Given the description of an element on the screen output the (x, y) to click on. 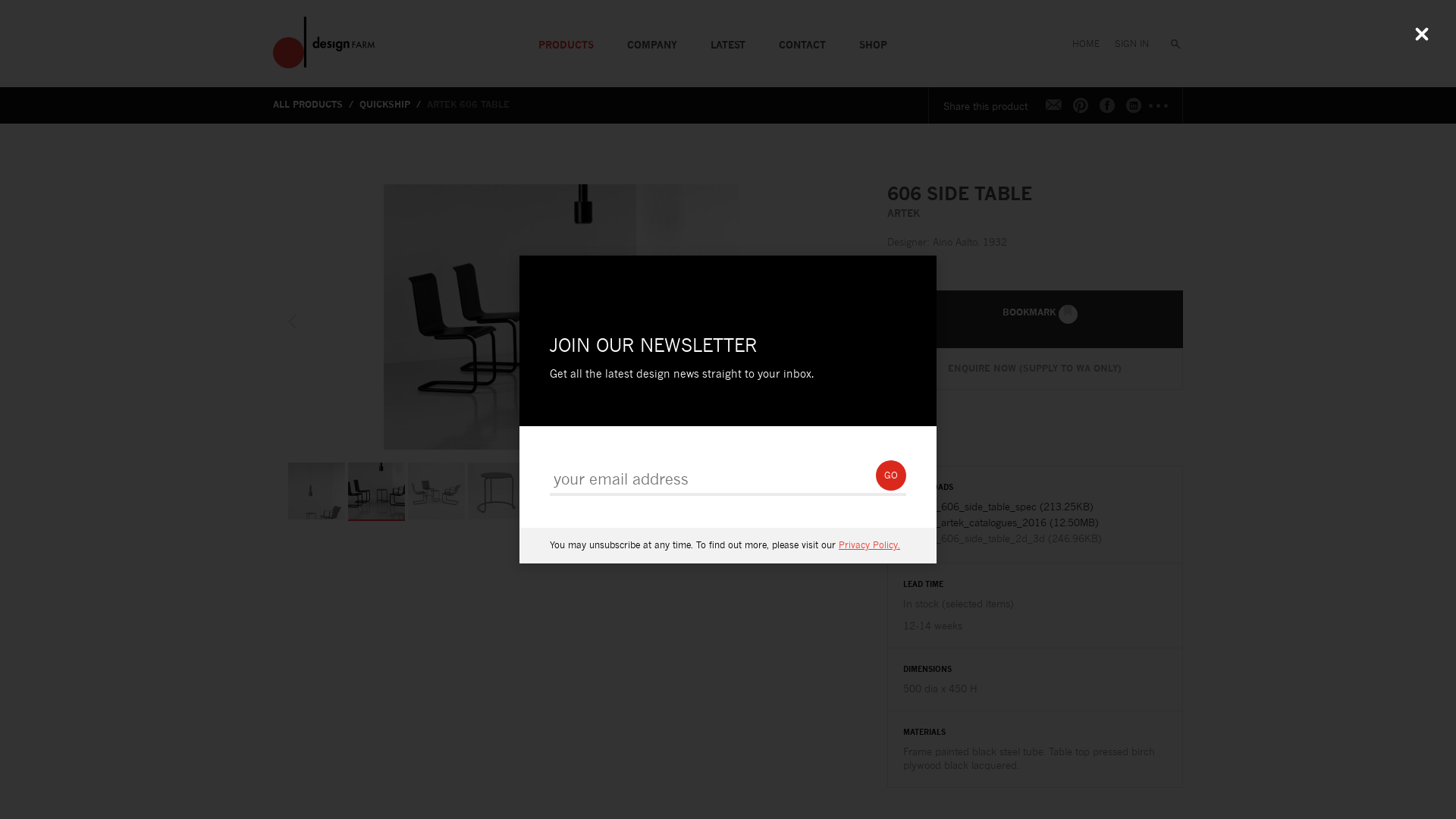
SIGN IN Element type: text (1131, 37)
atk_artek_catalogues_2016 (12.50MB) Element type: text (1035, 522)
BOOKMARK
    Element type: text (1035, 319)
COMPANY Element type: text (651, 37)
atk_606_side_table_2d_3d (246.96KB) Element type: text (1035, 538)
Share this on Facebook Element type: text (1106, 105)
Share this by email Element type: text (1053, 105)
More share options Element type: text (1159, 105)
designFARM Element type: text (324, 42)
Close Element type: text (1421, 34)
atk_606_side_table_spec (213.25KB) Element type: text (1035, 506)
ENQUIRE NOW (SUPPLY TO WA ONLY) Element type: text (1035, 368)
GO Element type: text (890, 475)
ALL PRODUCTS Element type: text (314, 103)
QUICKSHIP Element type: text (391, 103)
Privacy Policy. Element type: text (869, 544)
SHOP Element type: text (872, 37)
CONTACT Element type: text (802, 37)
HOME Element type: text (1085, 37)
PRODUCTS Element type: text (565, 37)
Share this on Pinterest Element type: text (1080, 105)
Share this on LinkedIn Element type: text (1133, 105)
LATEST Element type: text (727, 37)
SEARCH Element type: text (1169, 37)
